Given the description of an element on the screen output the (x, y) to click on. 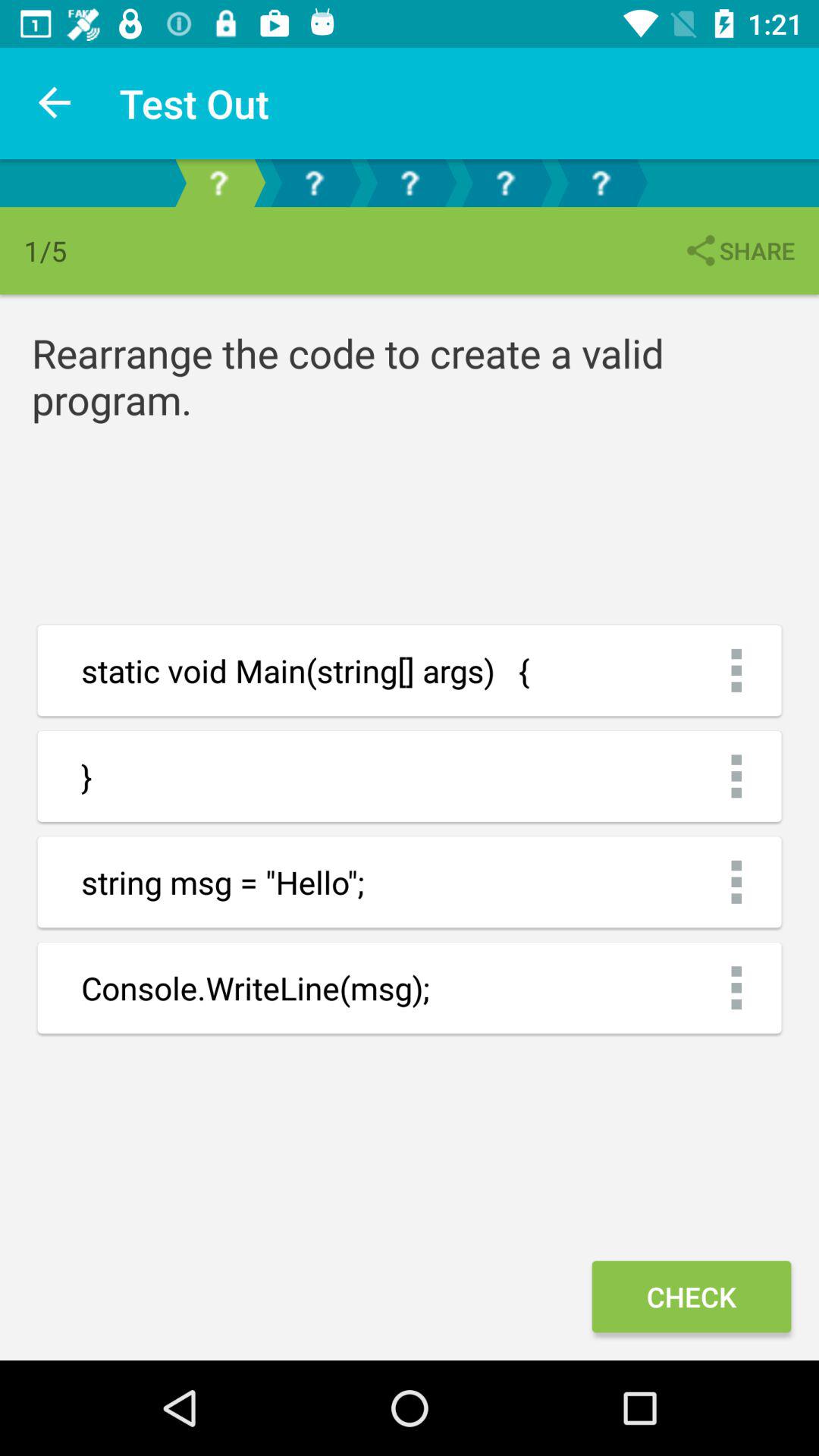
click icon above rearrange the code item (738, 250)
